Given the description of an element on the screen output the (x, y) to click on. 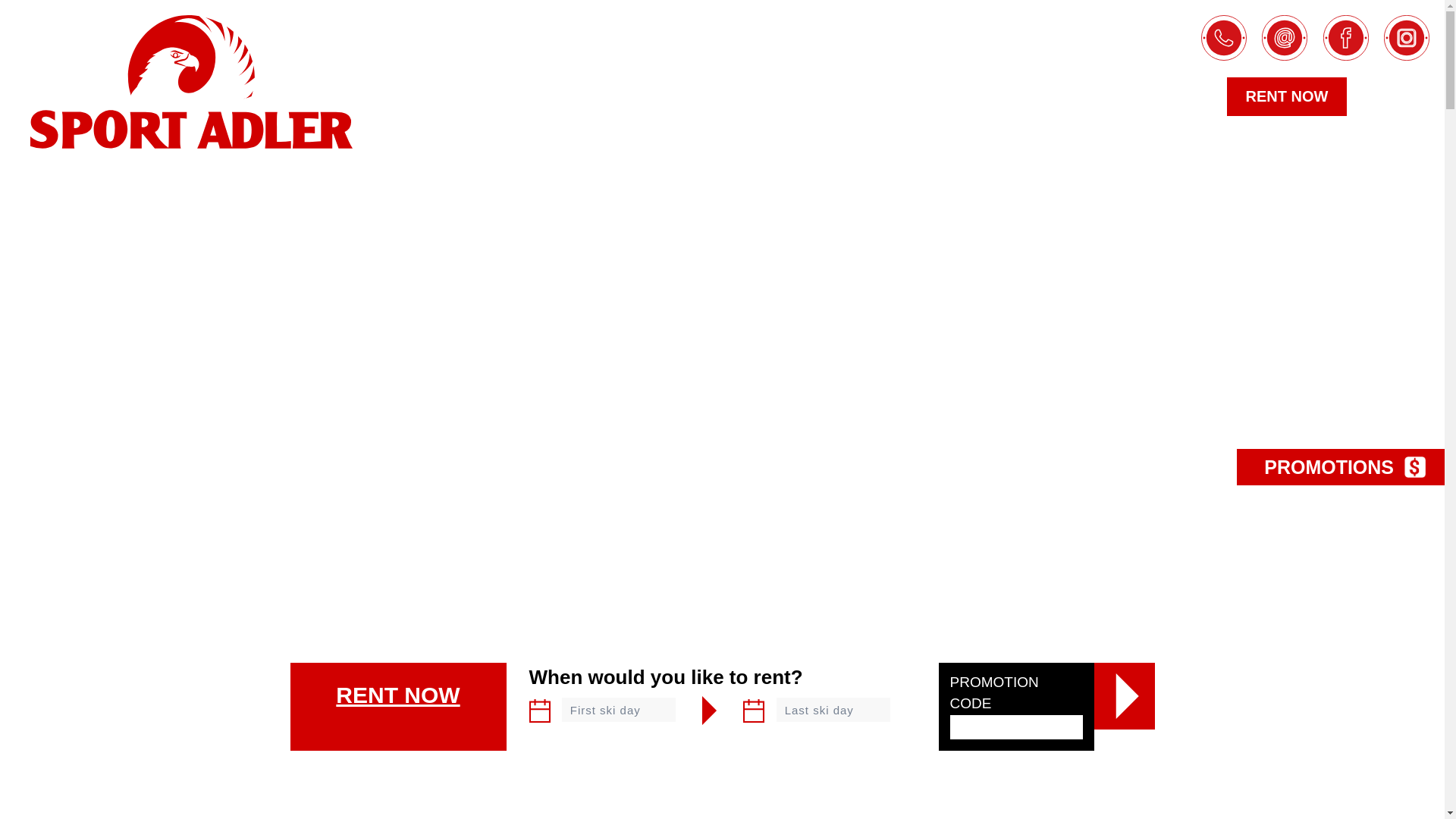
RENT NOW (397, 706)
DE (1371, 96)
RENT NOW (1287, 96)
EN (1403, 96)
